Given the description of an element on the screen output the (x, y) to click on. 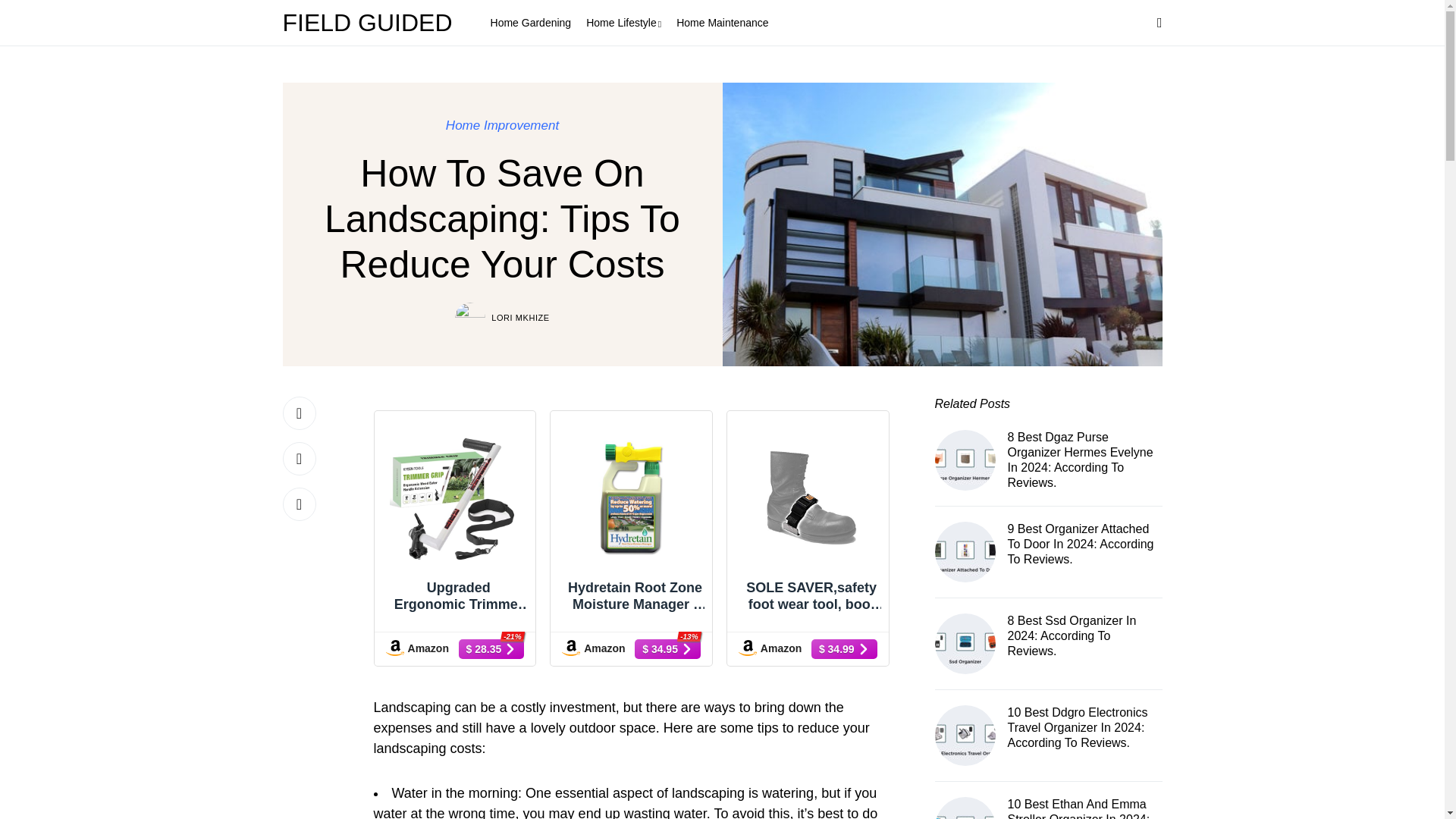
Home Maintenance (722, 22)
FIELD GUIDED (371, 22)
Home Gardening (531, 22)
Home Lifestyle (623, 22)
